Given the description of an element on the screen output the (x, y) to click on. 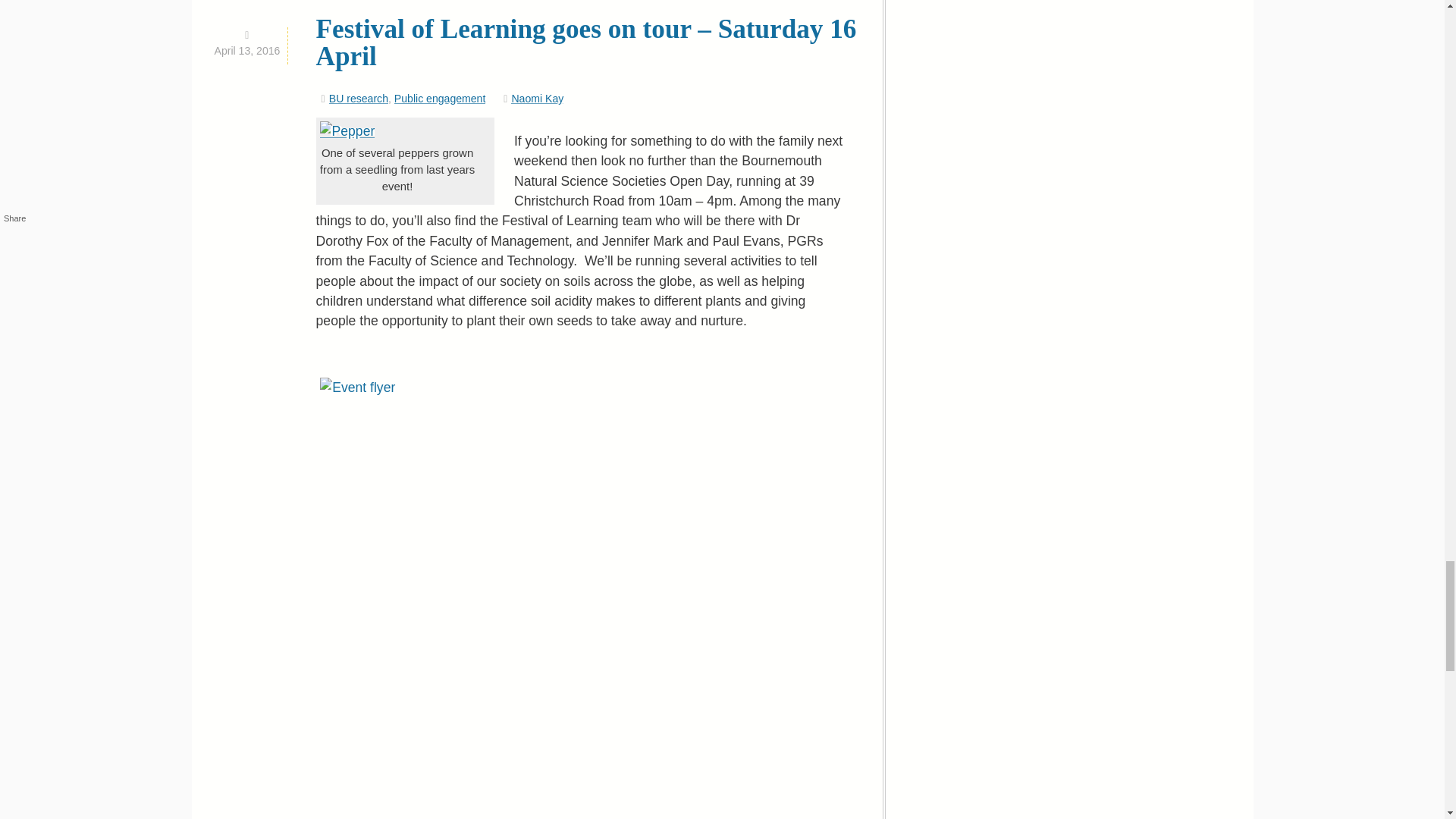
Posts by Naomi Kay (537, 98)
